Given the description of an element on the screen output the (x, y) to click on. 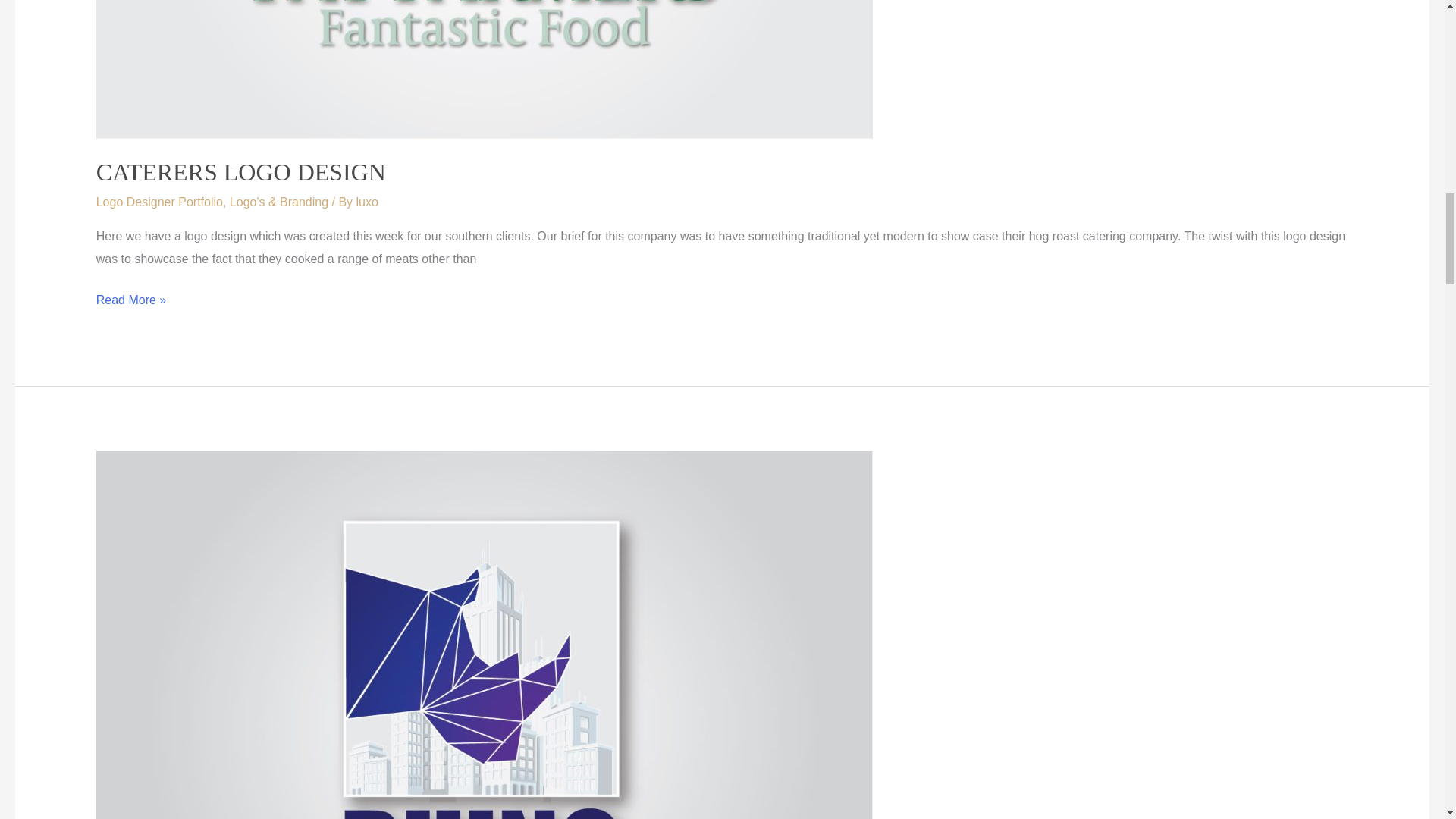
luxo (367, 201)
Logo Designer Portfolio (159, 201)
View all posts by luxo (367, 201)
CATERERS LOGO DESIGN (240, 171)
